Given the description of an element on the screen output the (x, y) to click on. 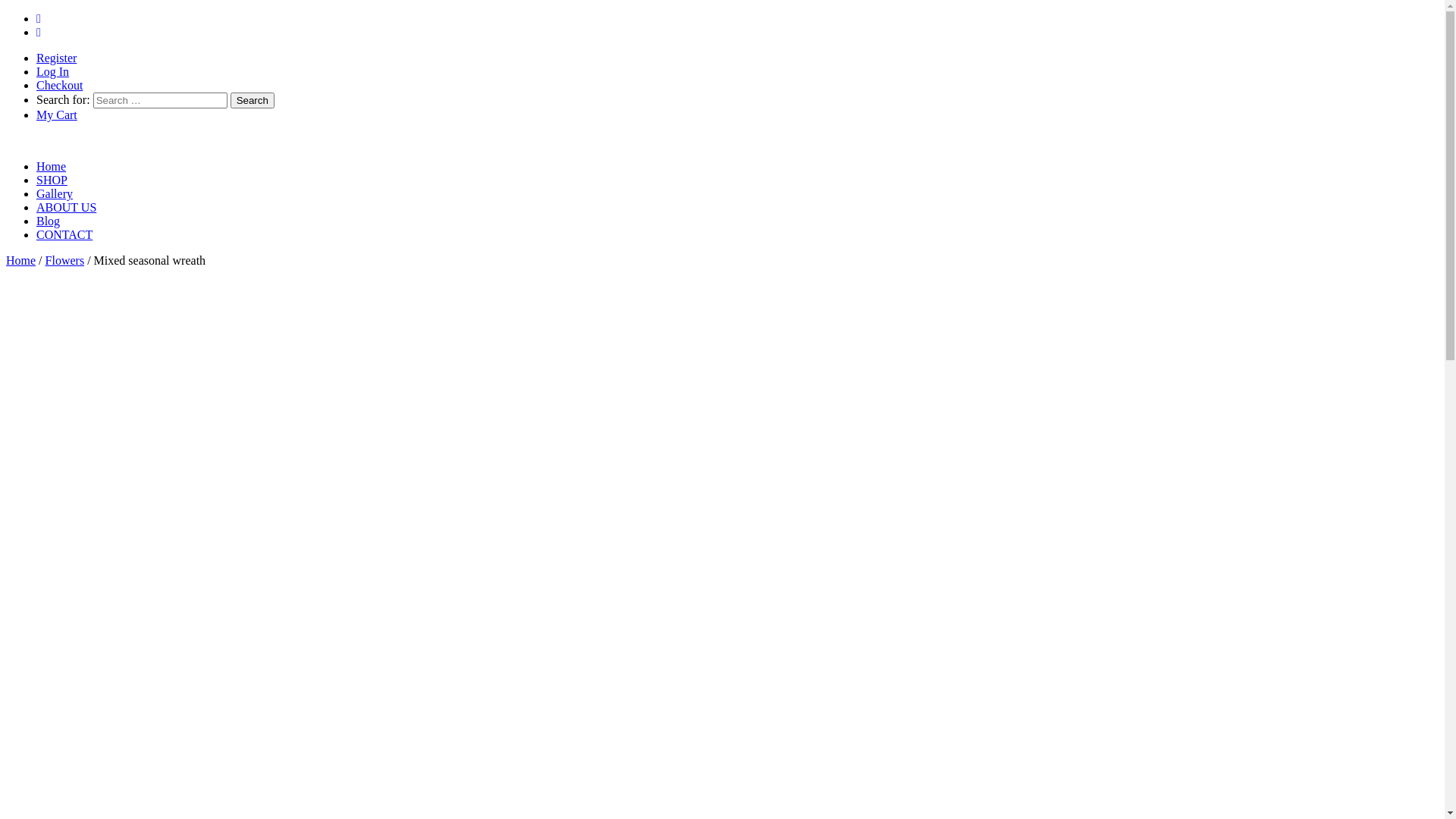
SHOP Element type: text (51, 179)
Flowers Element type: text (64, 260)
Register Element type: text (56, 57)
Gallery Element type: text (54, 193)
Checkout Element type: text (59, 84)
Blog Element type: text (47, 220)
Search Element type: text (252, 100)
CONTACT Element type: text (64, 234)
Home Element type: text (20, 260)
Home Element type: text (50, 166)
Log In Element type: text (52, 71)
My Cart Element type: text (56, 114)
ABOUT US Element type: text (66, 206)
